Given the description of an element on the screen output the (x, y) to click on. 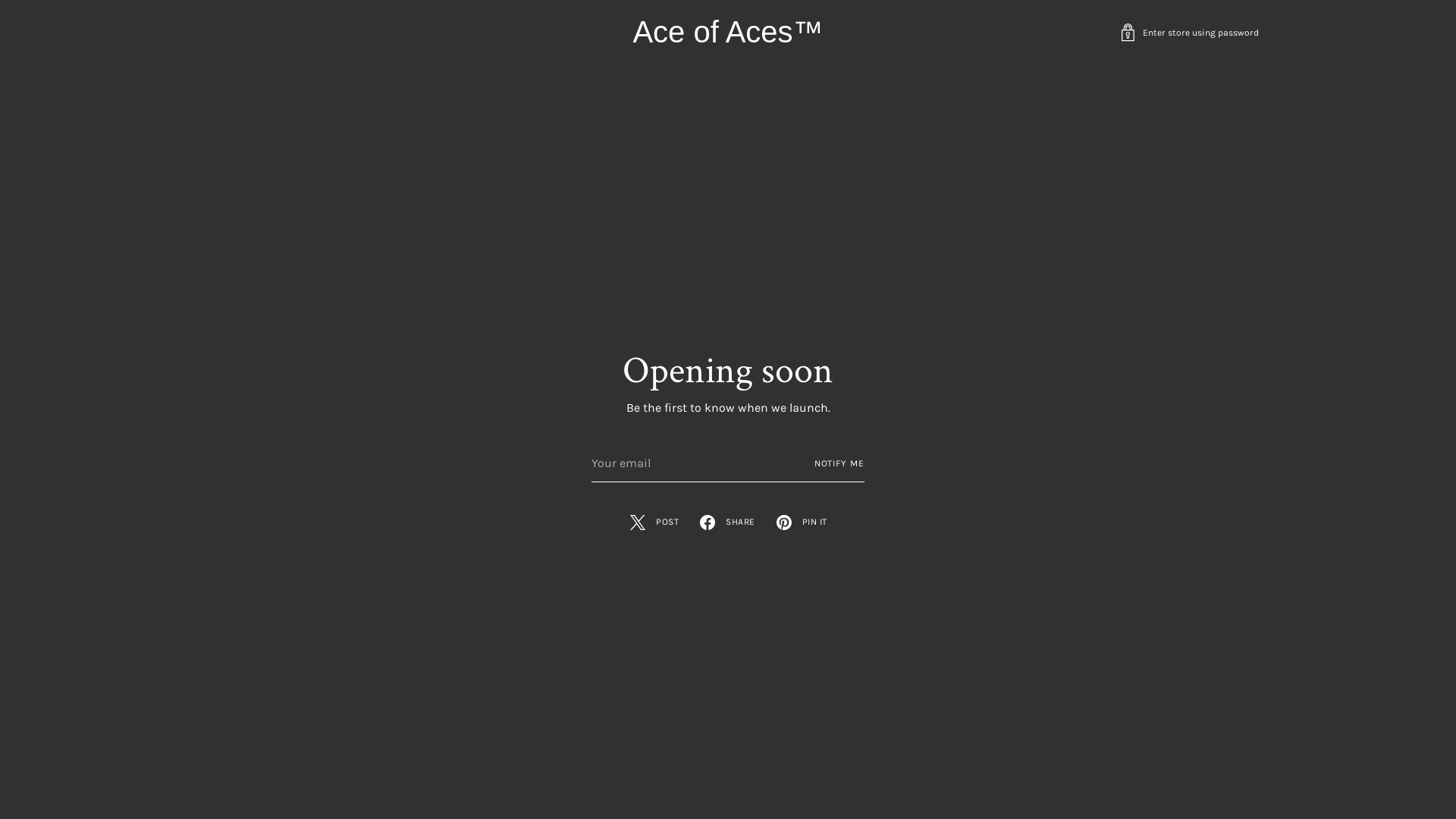
PIN IT Element type: text (801, 522)
Enter store using password Element type: text (1188, 31)
NOTIFY ME Element type: text (839, 463)
POST Element type: text (653, 522)
SHARE Element type: text (726, 522)
